Given the description of an element on the screen output the (x, y) to click on. 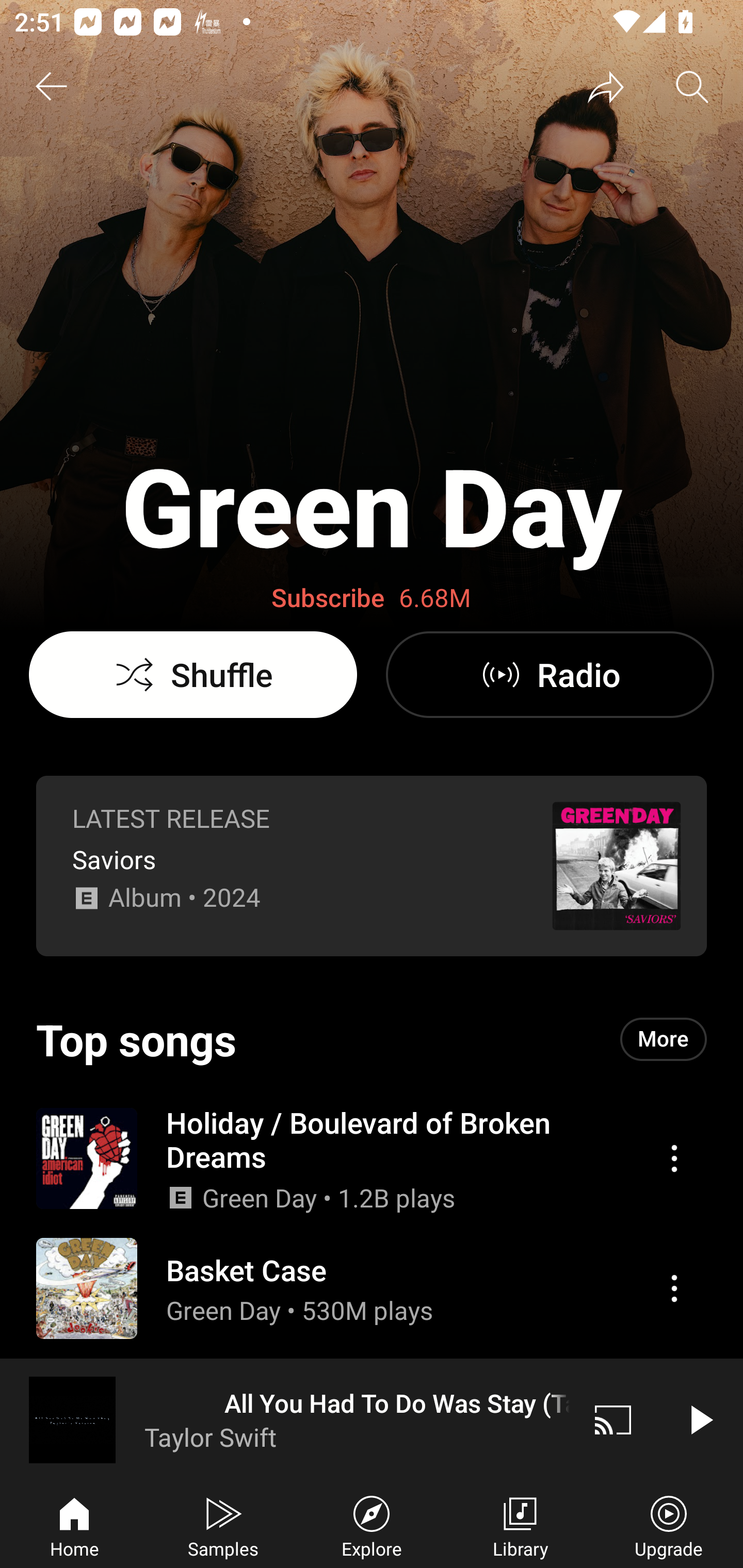
Back (50, 86)
Share (605, 86)
Search (692, 86)
Subscribe 6.68M (371, 598)
Shuffle (192, 674)
Radio (549, 674)
Action menu (371, 1157)
Action menu (673, 1158)
Action menu (371, 1288)
Action menu (673, 1288)
Cast. Disconnected (612, 1419)
Play video (699, 1419)
Home (74, 1524)
Samples (222, 1524)
Explore (371, 1524)
Library (519, 1524)
Upgrade (668, 1524)
